Given the description of an element on the screen output the (x, y) to click on. 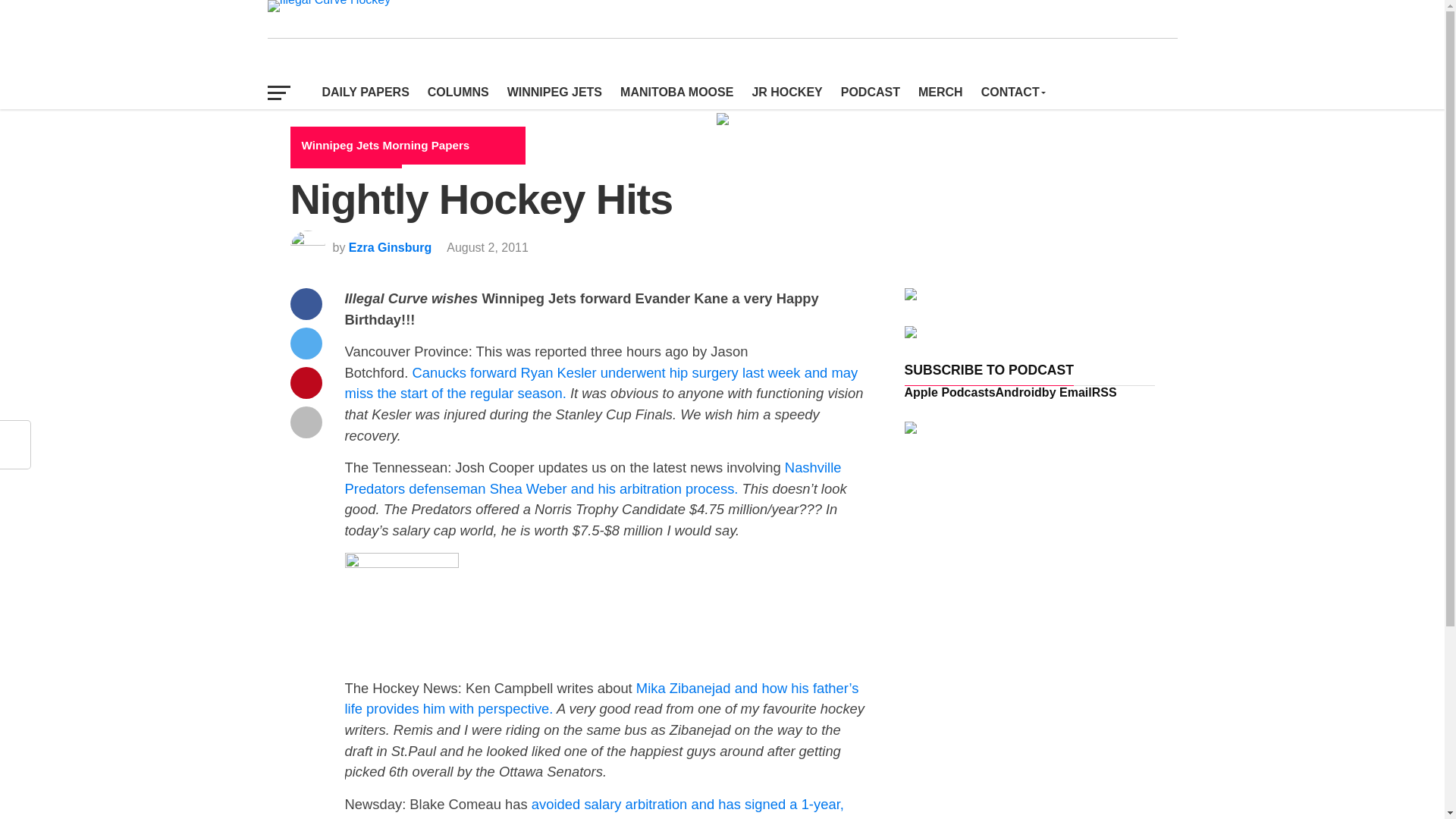
PODCAST (869, 92)
JR HOCKEY (786, 92)
Subscribe on Android (1018, 391)
COLUMNS (458, 92)
Ezra Ginsburg (389, 246)
Subscribe on Apple Podcasts (949, 391)
Subscribe via RSS (1104, 391)
DAILY PAPERS (365, 92)
MANITOBA MOOSE (676, 92)
